Given the description of an element on the screen output the (x, y) to click on. 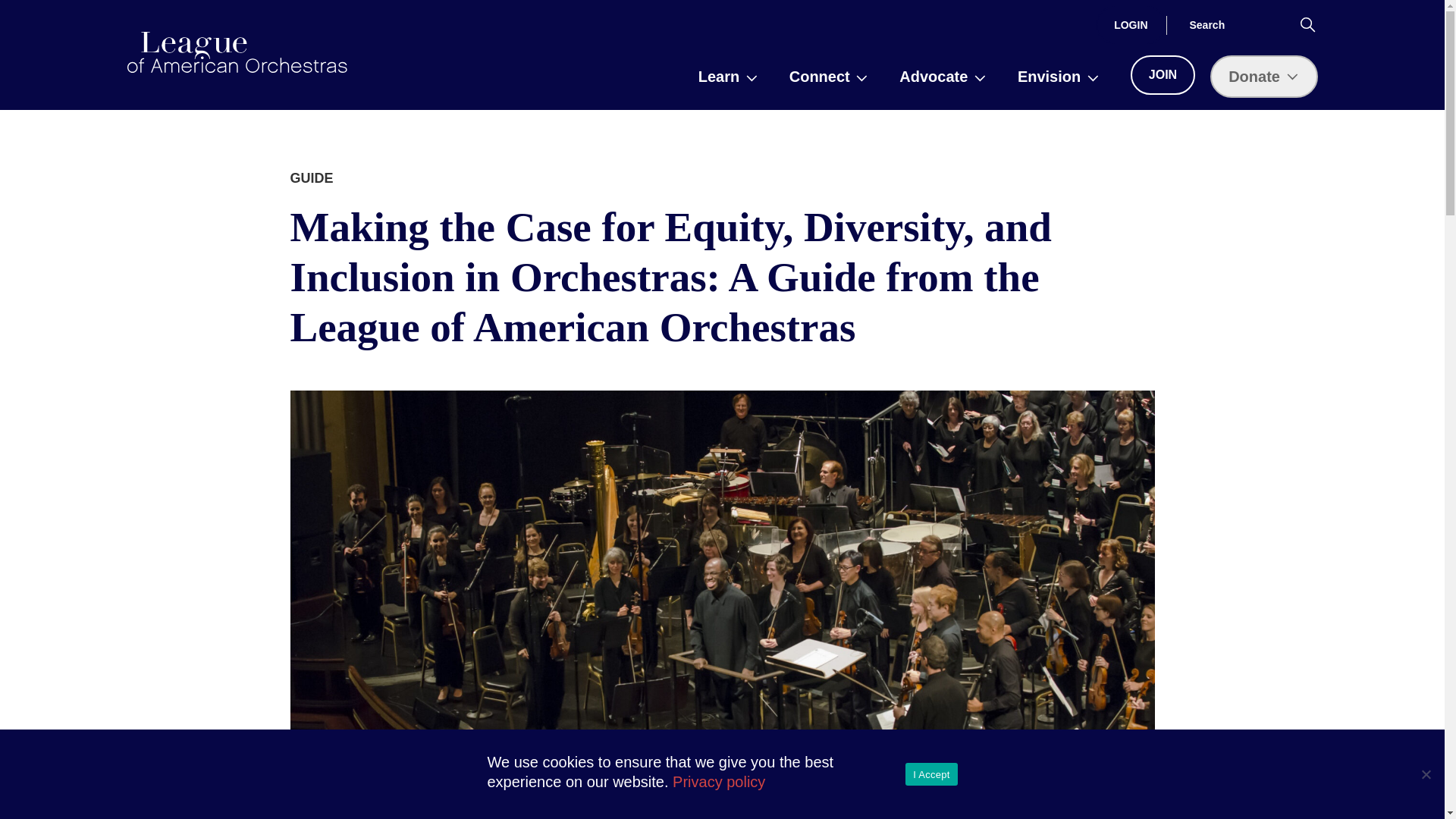
Learn (728, 76)
LOGIN (1131, 24)
americanorchestras.org homepage (237, 51)
No (1425, 774)
Search (1307, 24)
Connect (829, 76)
